Given the description of an element on the screen output the (x, y) to click on. 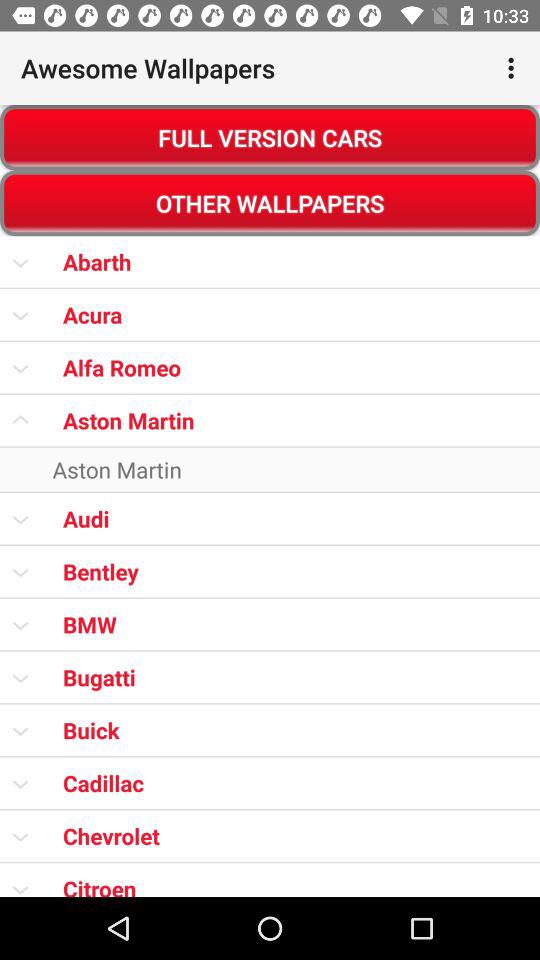
tap icon at the top right corner (513, 67)
